Given the description of an element on the screen output the (x, y) to click on. 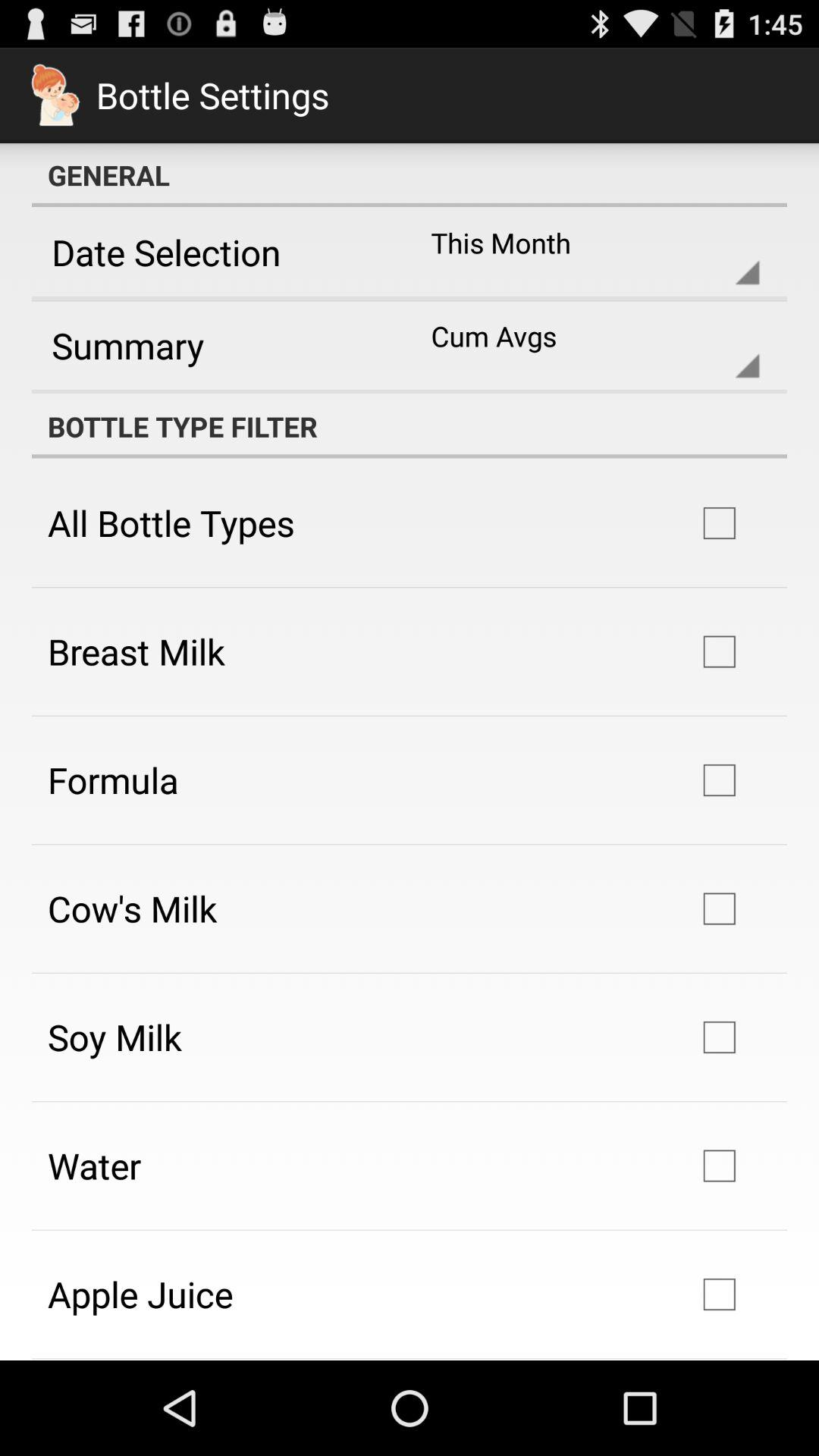
tap the icon above cow's milk (112, 779)
